Given the description of an element on the screen output the (x, y) to click on. 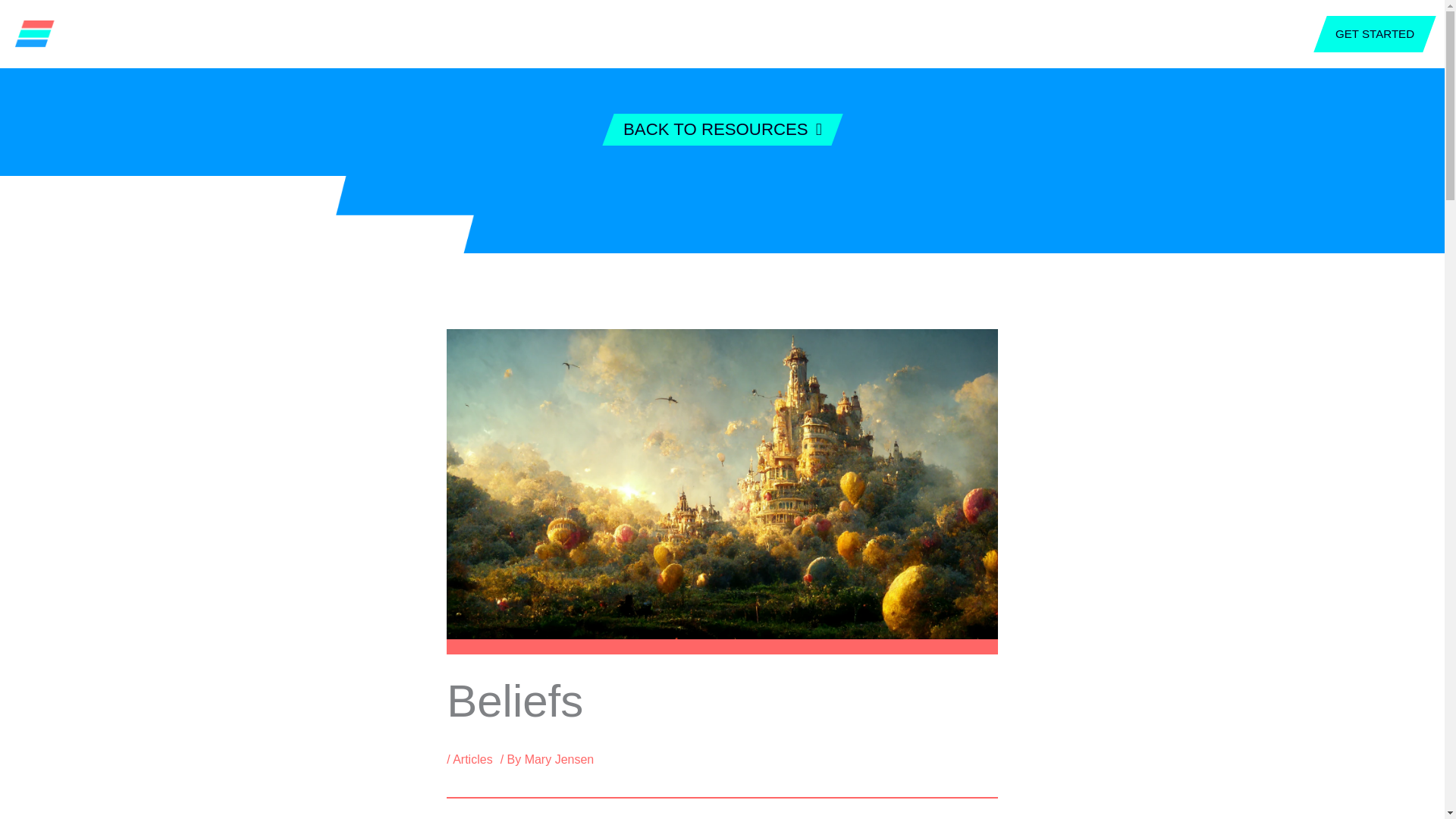
BACK TO RESOURCES (716, 129)
GET STARTED (1367, 33)
SPEAKING (711, 33)
RESULTS (874, 33)
COACHING (634, 33)
RESOURCES (794, 33)
ABOUT (564, 33)
